Given the description of an element on the screen output the (x, y) to click on. 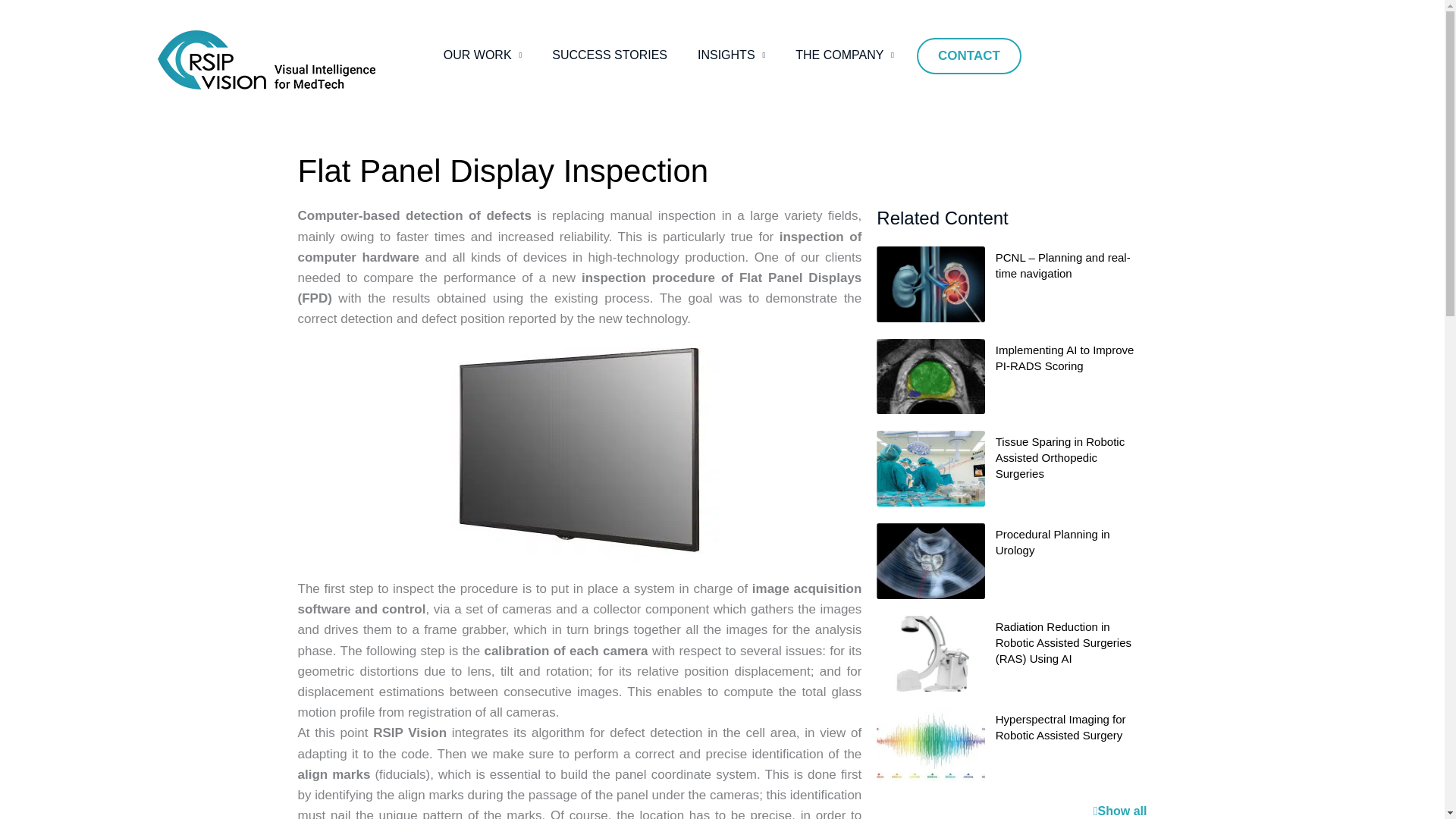
OUR WORK (482, 54)
INSIGHTS (731, 54)
THE COMPANY (844, 54)
SUCCESS STORIES (609, 54)
